Given the description of an element on the screen output the (x, y) to click on. 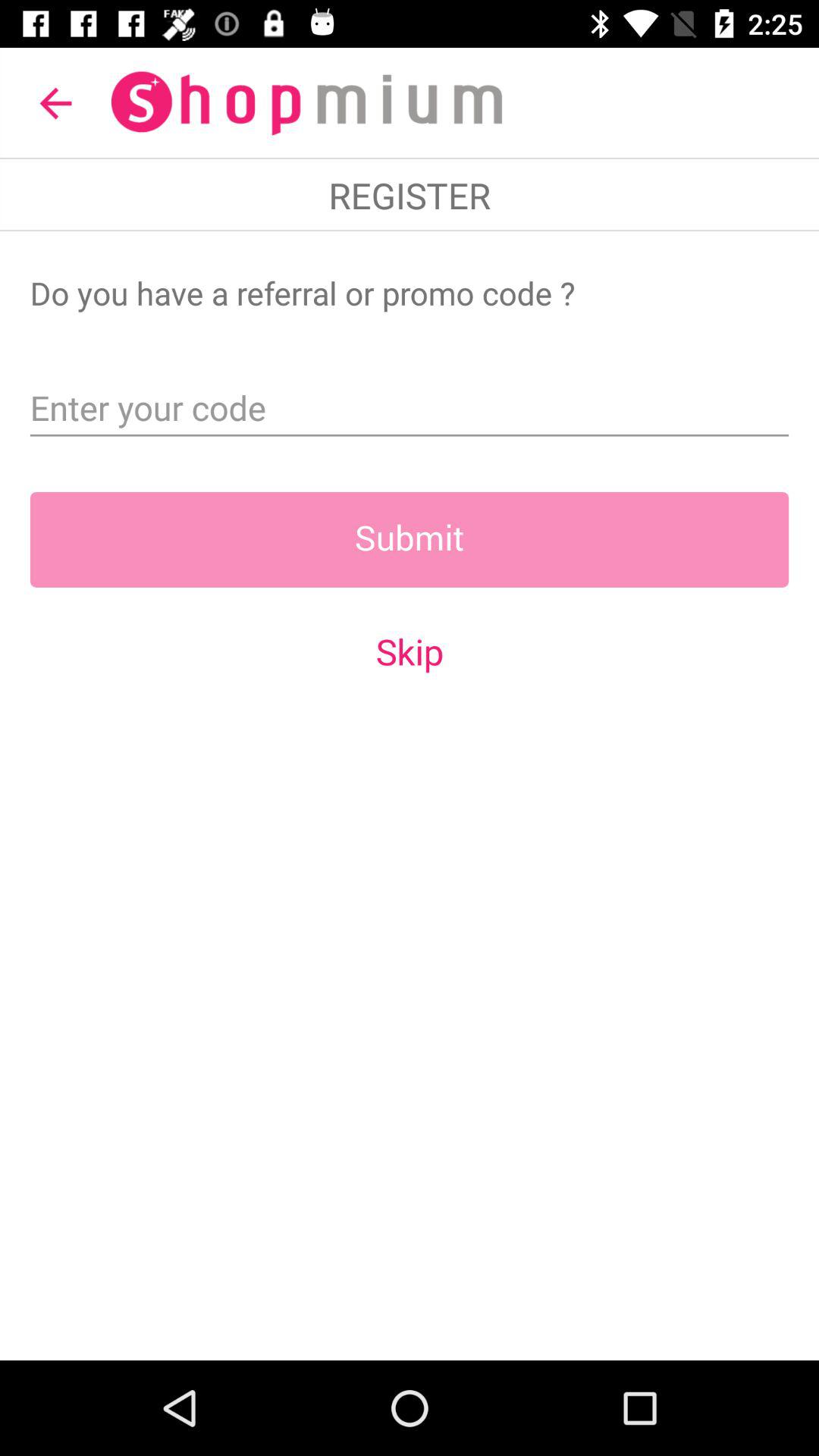
jump to the submit icon (409, 539)
